Given the description of an element on the screen output the (x, y) to click on. 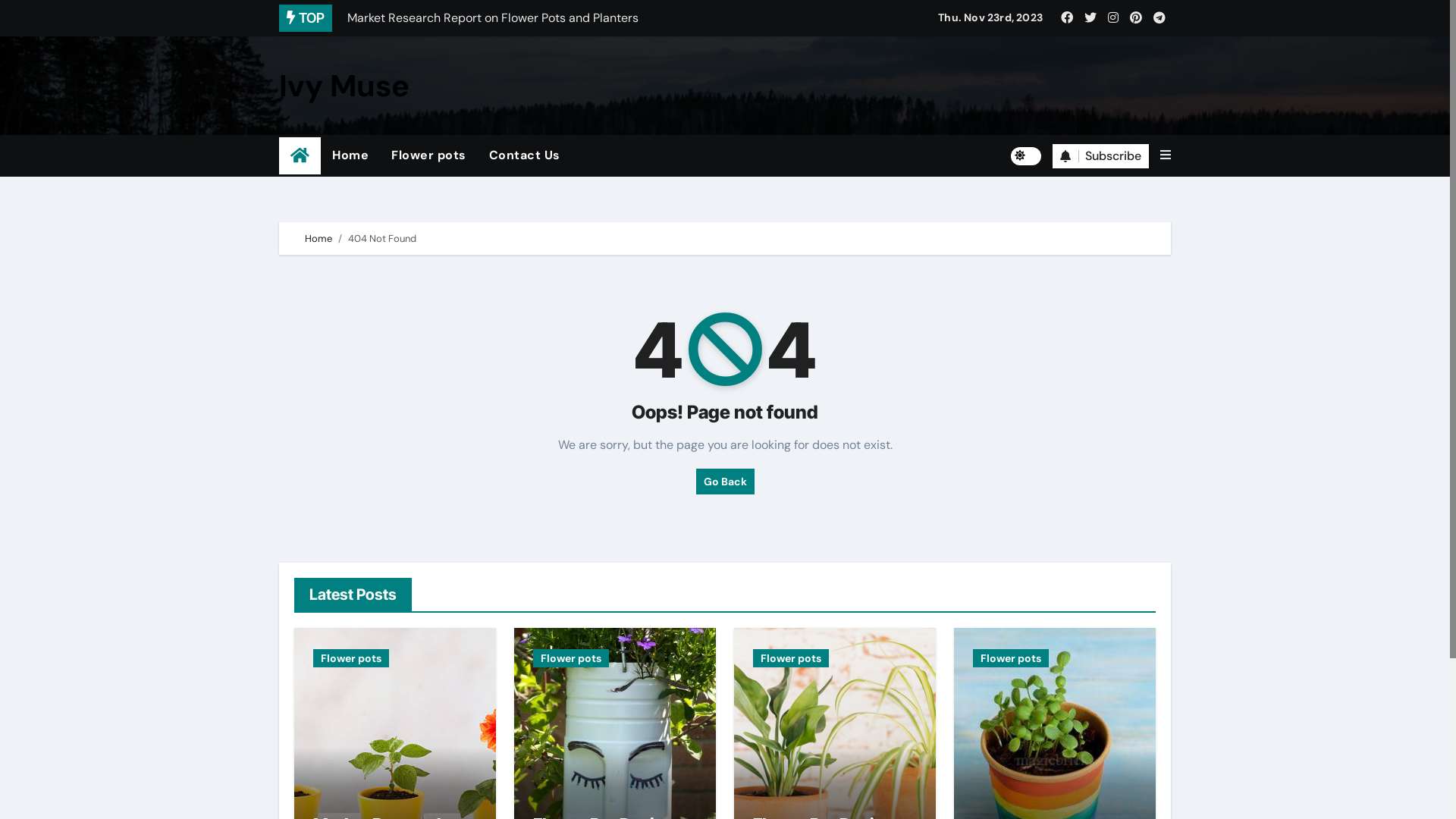
Subscribe Element type: text (1100, 156)
Go Back Element type: text (725, 481)
Ivy Muse Element type: text (344, 85)
Home Element type: text (349, 155)
Flower pots Element type: text (570, 658)
Contact Us Element type: text (524, 155)
Flower pots Element type: text (1010, 658)
Flower pots Element type: text (790, 658)
Flower pots Element type: text (351, 658)
Market Research Report on Flower Pots and Planters Element type: text (561, 18)
Flower pots Element type: text (428, 155)
Home Element type: hover (299, 155)
Home Element type: text (318, 238)
